Given the description of an element on the screen output the (x, y) to click on. 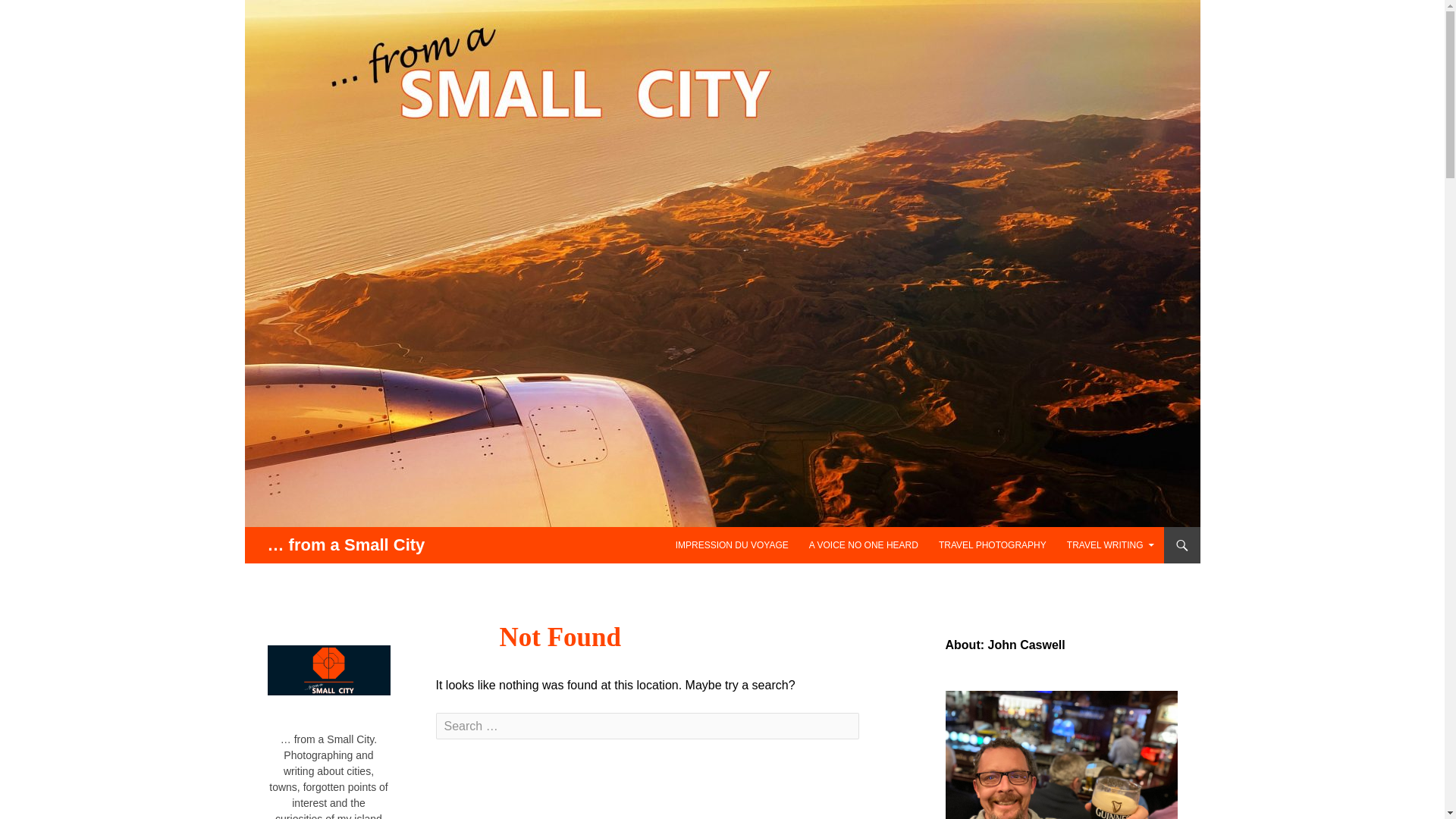
TRAVEL WRITING (1110, 545)
Search (42, 13)
TRAVEL PHOTOGRAPHY (992, 545)
A VOICE NO ONE HEARD (863, 545)
IMPRESSION DU VOYAGE (731, 545)
